Given the description of an element on the screen output the (x, y) to click on. 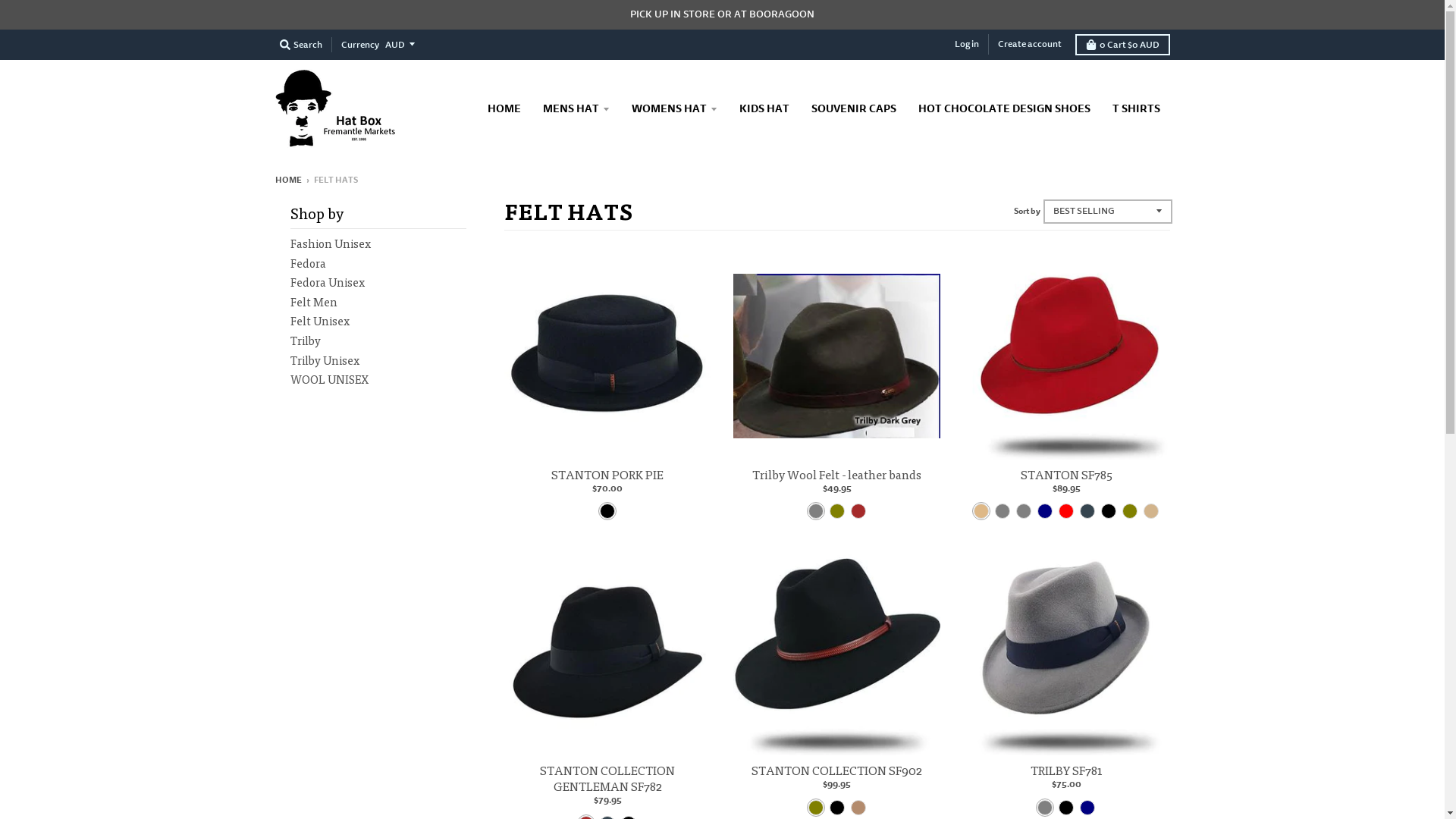
Search Element type: text (300, 44)
SOUVENIR CAPS Element type: text (852, 108)
STANTON SF785 Element type: text (1066, 474)
Black Element type: text (1066, 807)
T SHIRTS Element type: text (1136, 108)
Dark Grey Element type: text (815, 511)
STANTON PORK PIE Element type: text (607, 474)
0 Cart $0 AUD Element type: text (1122, 44)
NAVY Element type: text (1044, 511)
Trilby Element type: text (304, 340)
Felt Men Element type: text (312, 301)
Fashion Unisex Element type: text (329, 243)
CHARCOAL Element type: text (1087, 511)
Brown Element type: text (858, 511)
WOOL UNISEX Element type: text (328, 378)
STANTON COLLECTION SF902 Element type: text (836, 770)
Black Element type: text (837, 807)
Felt Unisex Element type: text (318, 320)
BLACK Element type: text (1108, 511)
SAND Element type: text (981, 511)
Create account Element type: text (1029, 44)
Taupe Element type: text (858, 807)
MENS HAT Element type: text (575, 108)
OLIVE Element type: text (1129, 511)
HOME Element type: text (503, 108)
Navy Element type: text (1087, 807)
Olive Element type: text (837, 511)
KIDS HAT Element type: text (764, 108)
Fedora Element type: text (307, 262)
Trilby Wool Felt - leather bands Element type: text (836, 474)
STANTON COLLECTION GENTLEMAN SF782 Element type: text (606, 777)
Trilby Unisex Element type: text (323, 359)
Olive Element type: text (815, 807)
Grey Element type: text (1044, 807)
MUSTARD Element type: text (1023, 511)
FAWN Element type: text (1002, 511)
HOT CHOCOLATE DESIGN SHOES Element type: text (1004, 108)
WOMENS HAT Element type: text (674, 108)
TAN Element type: text (1151, 511)
Log in Element type: text (965, 44)
RED Element type: text (1066, 511)
Fedora Unisex Element type: text (326, 281)
TRILBY SF781 Element type: text (1065, 770)
Black Element type: text (607, 511)
HOME Element type: text (287, 179)
